Given the description of an element on the screen output the (x, y) to click on. 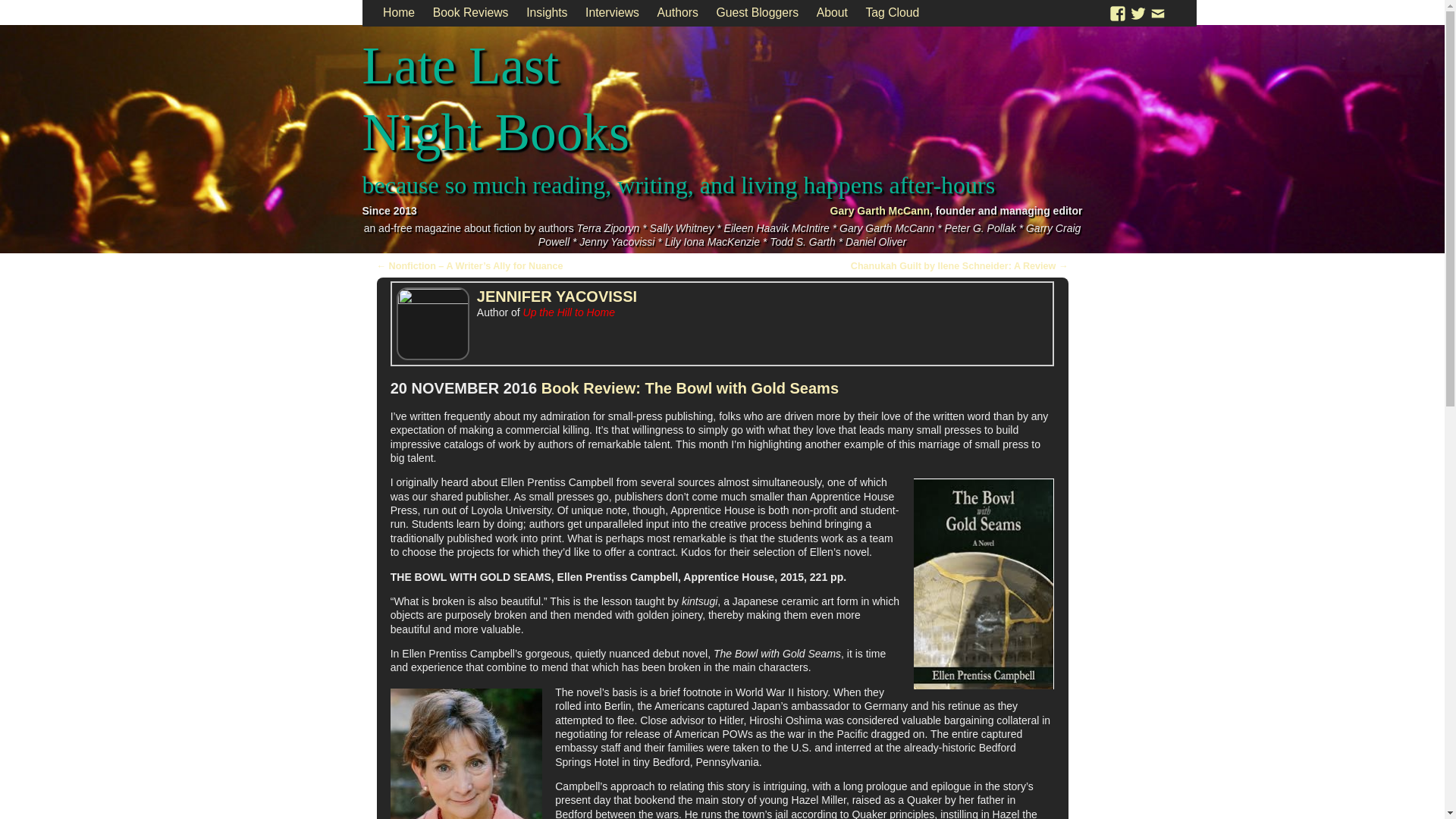
Subscribe to receive email updates (1158, 12)
Insights (546, 13)
JENNIFER YACOVISSI (557, 296)
Up the Hill to Home (568, 312)
Book Reviews (469, 13)
Interviews (611, 13)
Book Review: The Bowl with Gold Seams (689, 388)
Facebook: social networking (1117, 12)
Twitter (1138, 12)
Gary Garth McCann (879, 210)
